Given the description of an element on the screen output the (x, y) to click on. 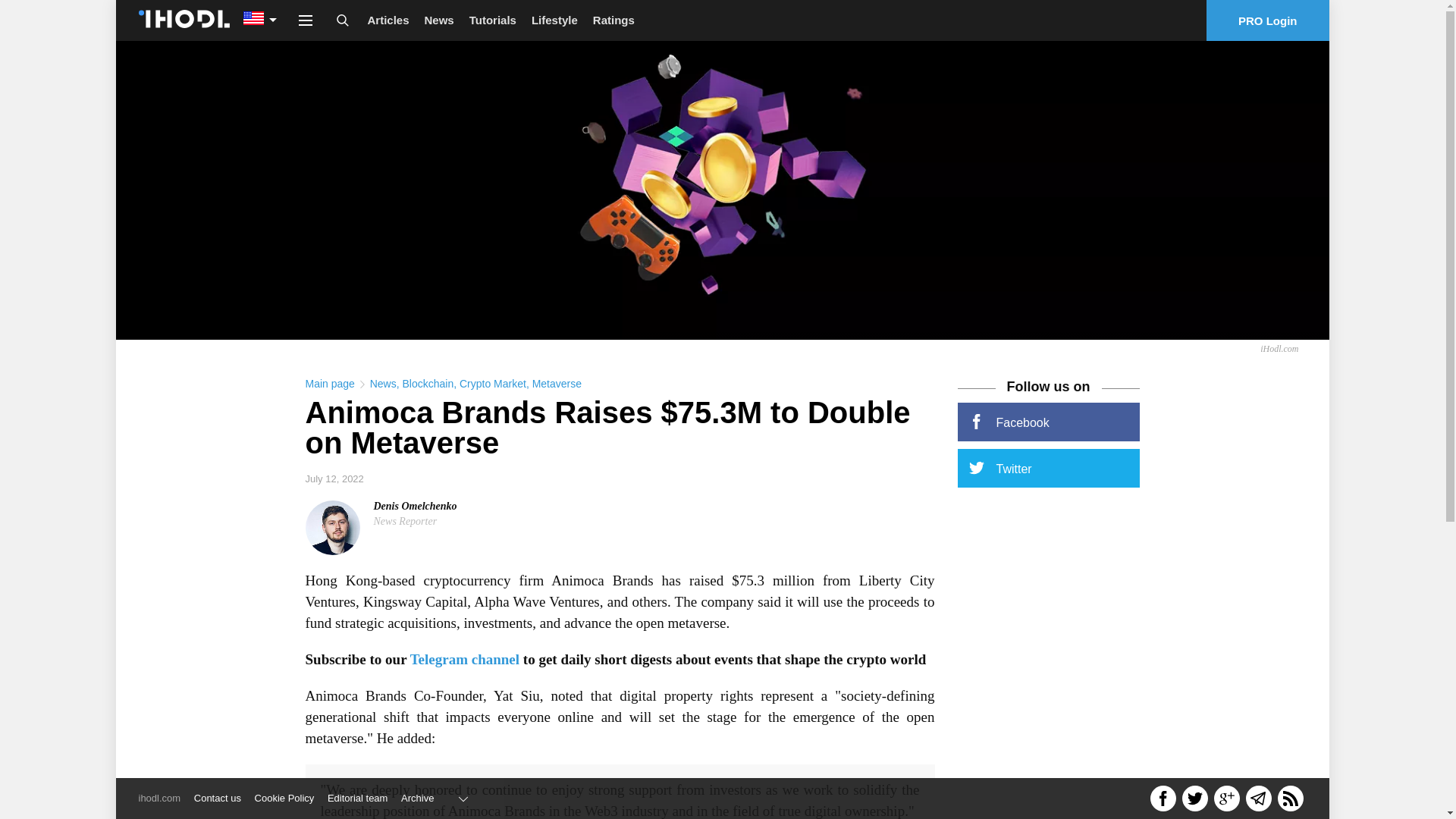
Telegram channel (464, 659)
Blockchain (426, 383)
News (438, 20)
PRO Login (1268, 20)
Crypto Market (492, 383)
Main page (328, 383)
Articles (387, 20)
Denis Omelchenko (414, 505)
Tutorials (492, 20)
Lifestyle (554, 20)
